Given the description of an element on the screen output the (x, y) to click on. 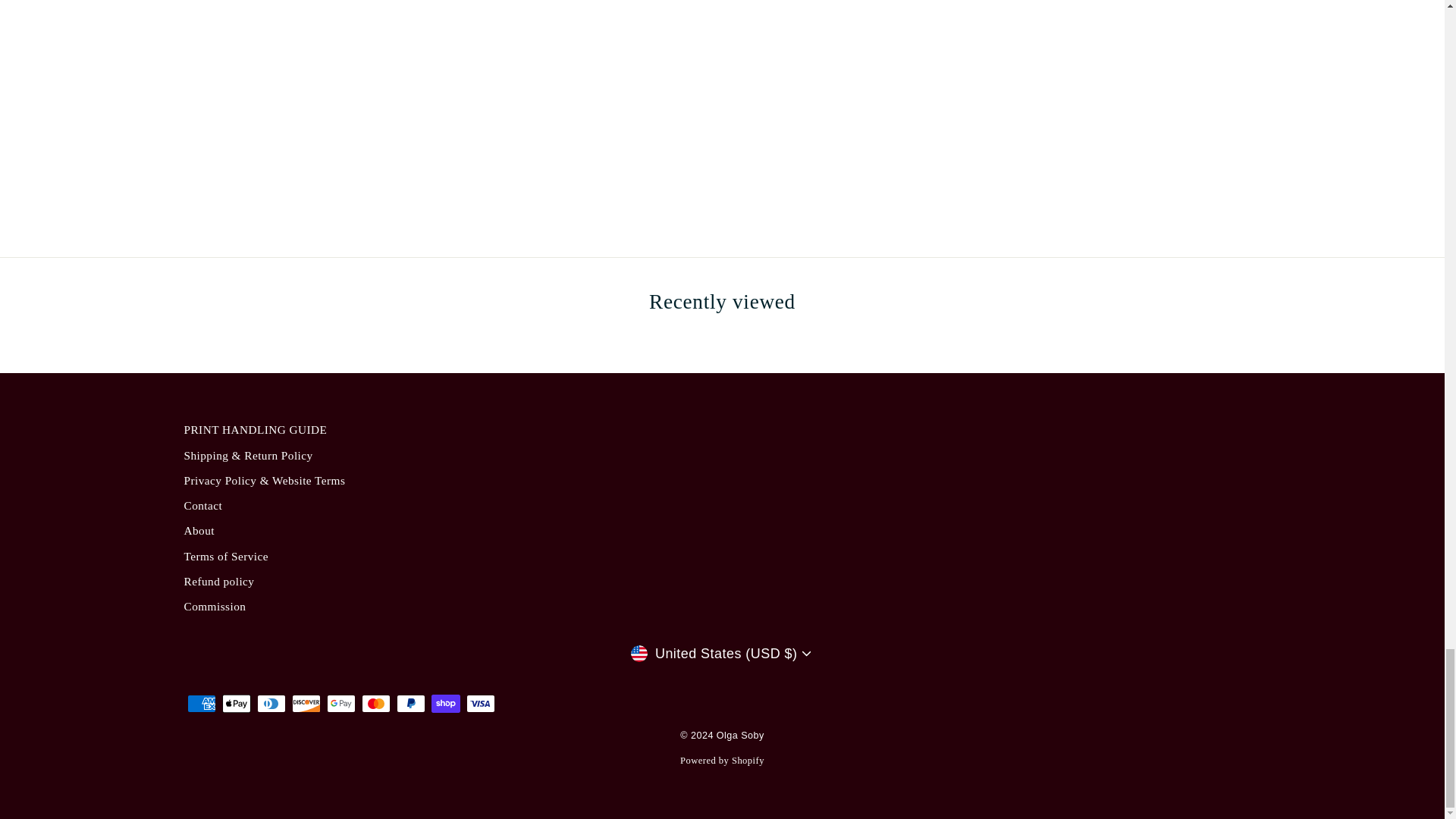
Google Pay (340, 703)
Discover (305, 703)
Apple Pay (235, 703)
Diners Club (270, 703)
American Express (200, 703)
